Given the description of an element on the screen output the (x, y) to click on. 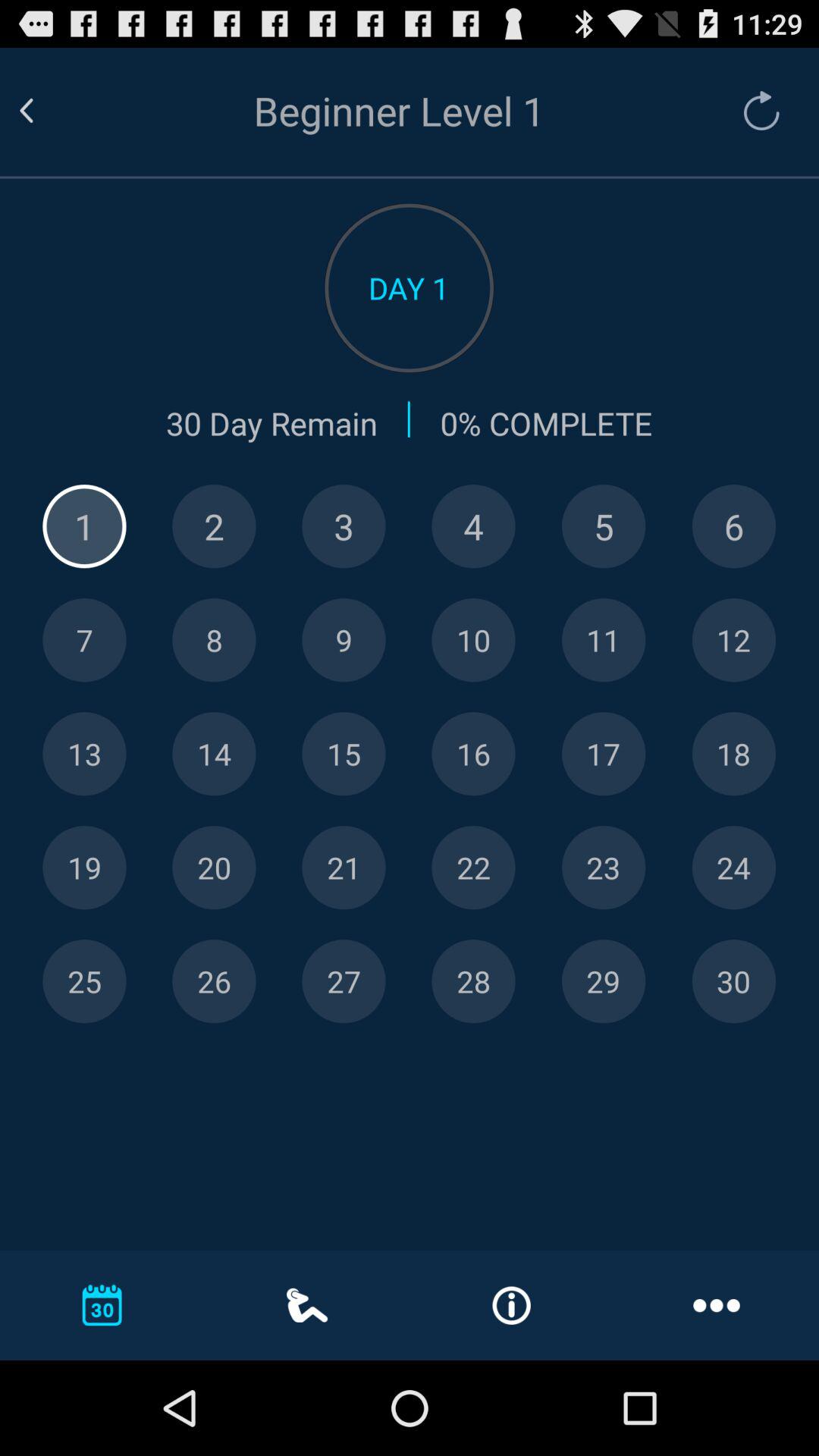
select 3 (343, 526)
